Given the description of an element on the screen output the (x, y) to click on. 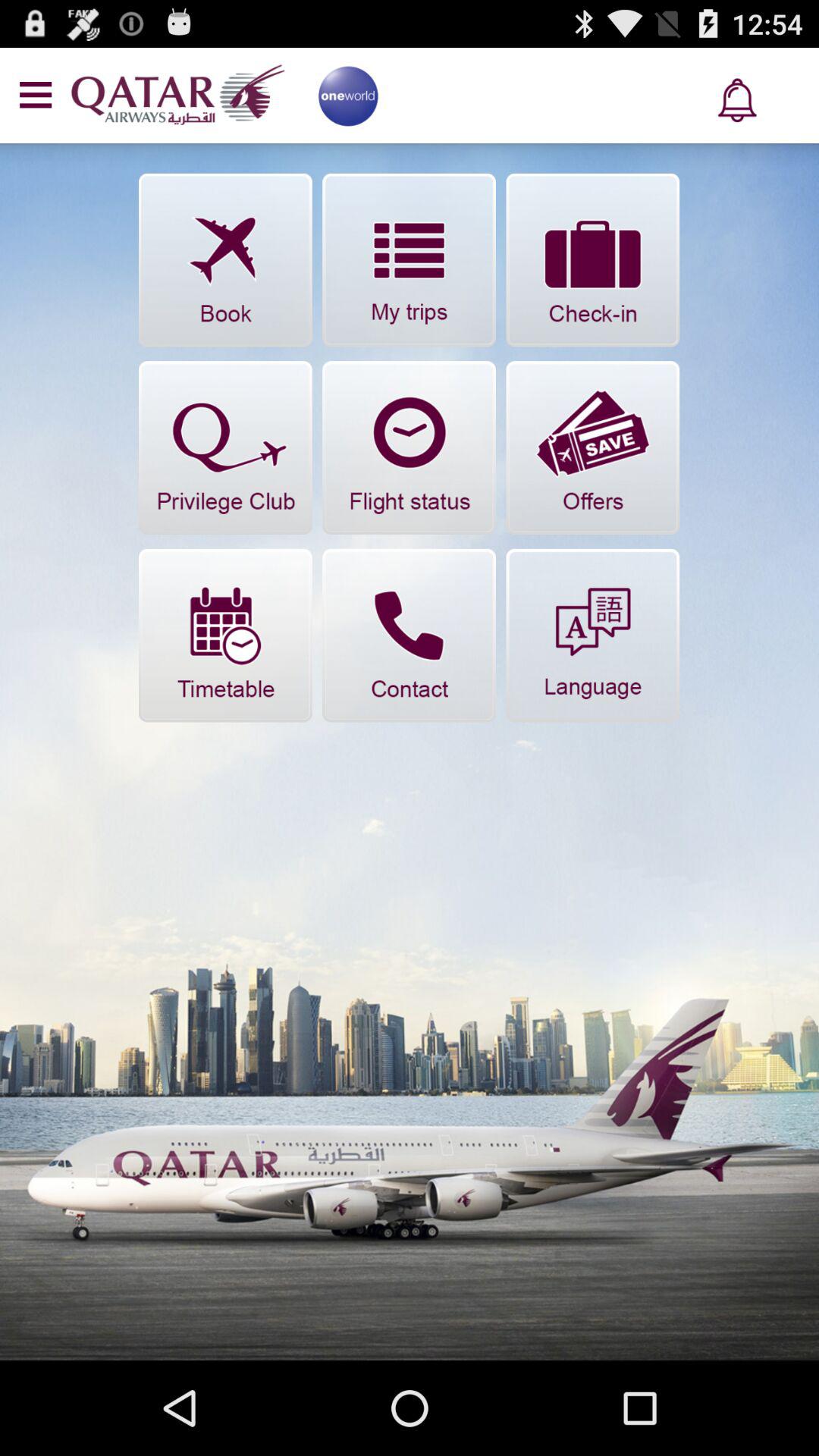
contact the company (408, 635)
